Given the description of an element on the screen output the (x, y) to click on. 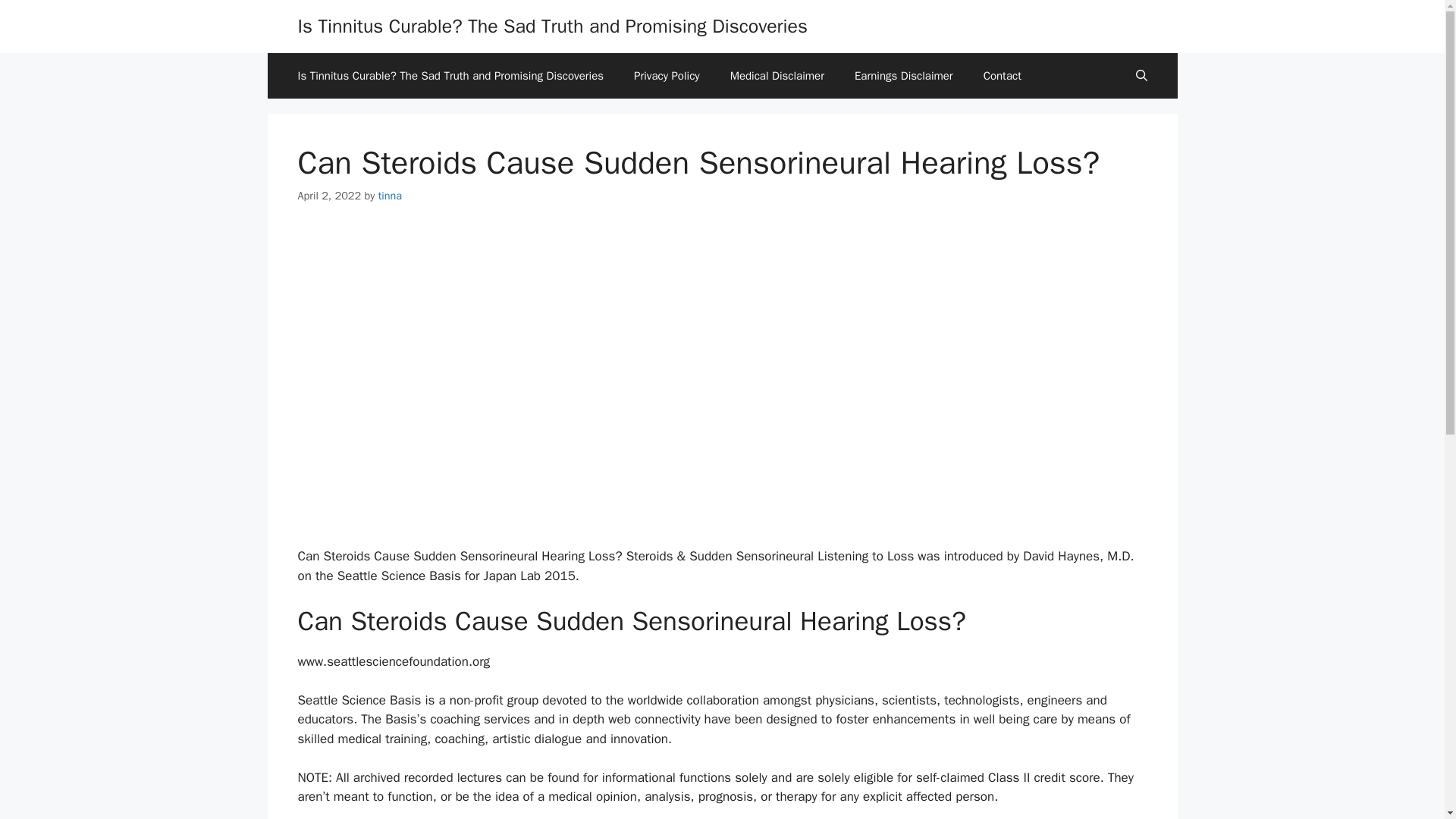
Is Tinnitus Curable? The Sad Truth and Promising Discoveries (552, 25)
Privacy Policy (666, 75)
Contact (1002, 75)
Medical Disclaimer (777, 75)
Is Tinnitus Curable? The Sad Truth and Promising Discoveries (450, 75)
View all posts by tinna (389, 195)
Earnings Disclaimer (904, 75)
tinna (389, 195)
